Given the description of an element on the screen output the (x, y) to click on. 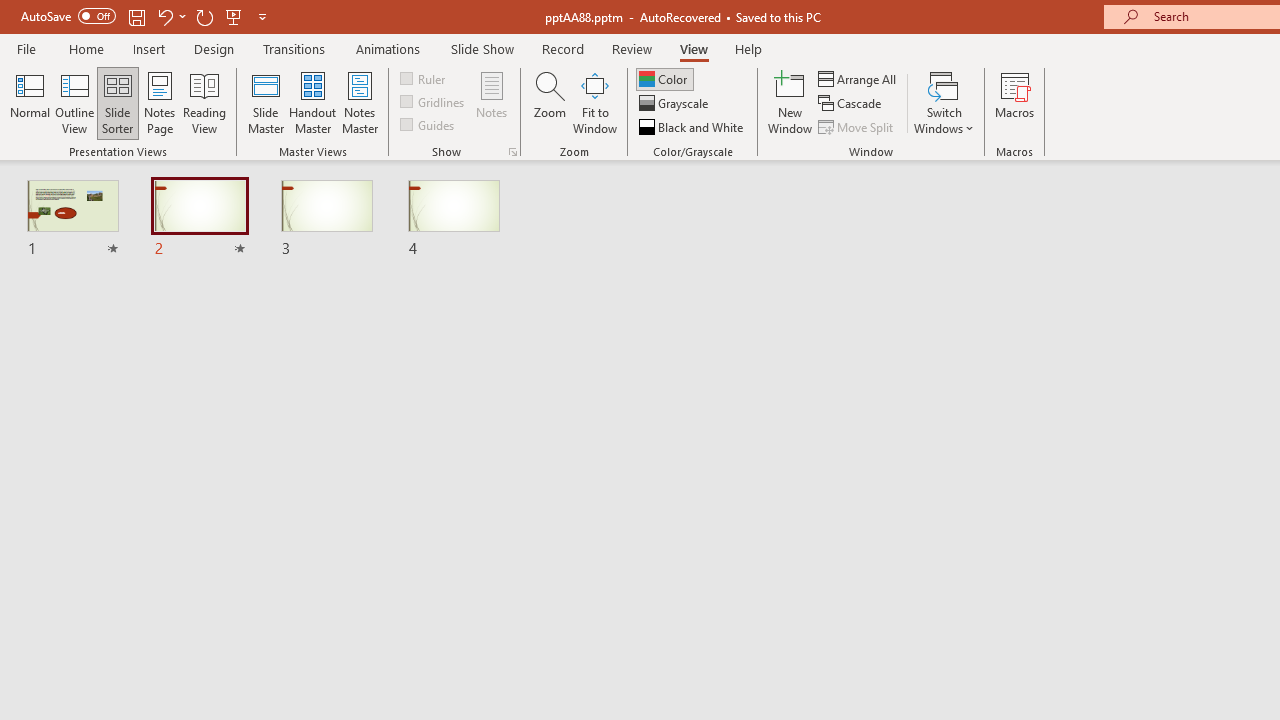
New Window (790, 102)
Cascade (851, 103)
Switch Windows (943, 102)
Notes (492, 102)
Macros (1014, 102)
Grayscale (675, 103)
Ruler (423, 78)
Handout Master (312, 102)
